Given the description of an element on the screen output the (x, y) to click on. 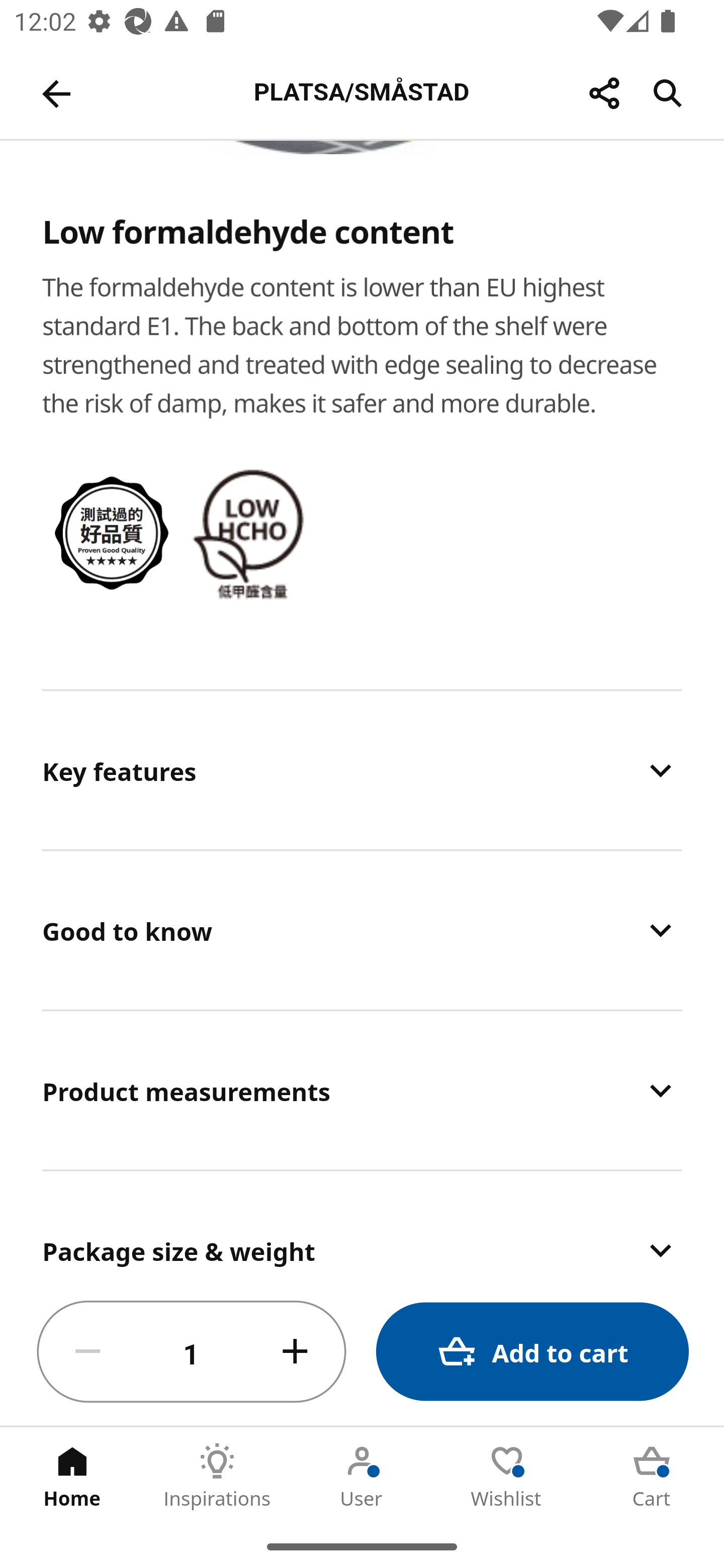
low-formaldehyde (253, 531)
wood_based_storage_ITCS (112, 532)
Key features (361, 770)
Good to know (361, 930)
Product measurements (361, 1090)
Package size & weight (361, 1224)
Add to cart (531, 1352)
1 (191, 1352)
Home
Tab 1 of 5 (72, 1476)
Inspirations
Tab 2 of 5 (216, 1476)
User
Tab 3 of 5 (361, 1476)
Wishlist
Tab 4 of 5 (506, 1476)
Cart
Tab 5 of 5 (651, 1476)
